Given the description of an element on the screen output the (x, y) to click on. 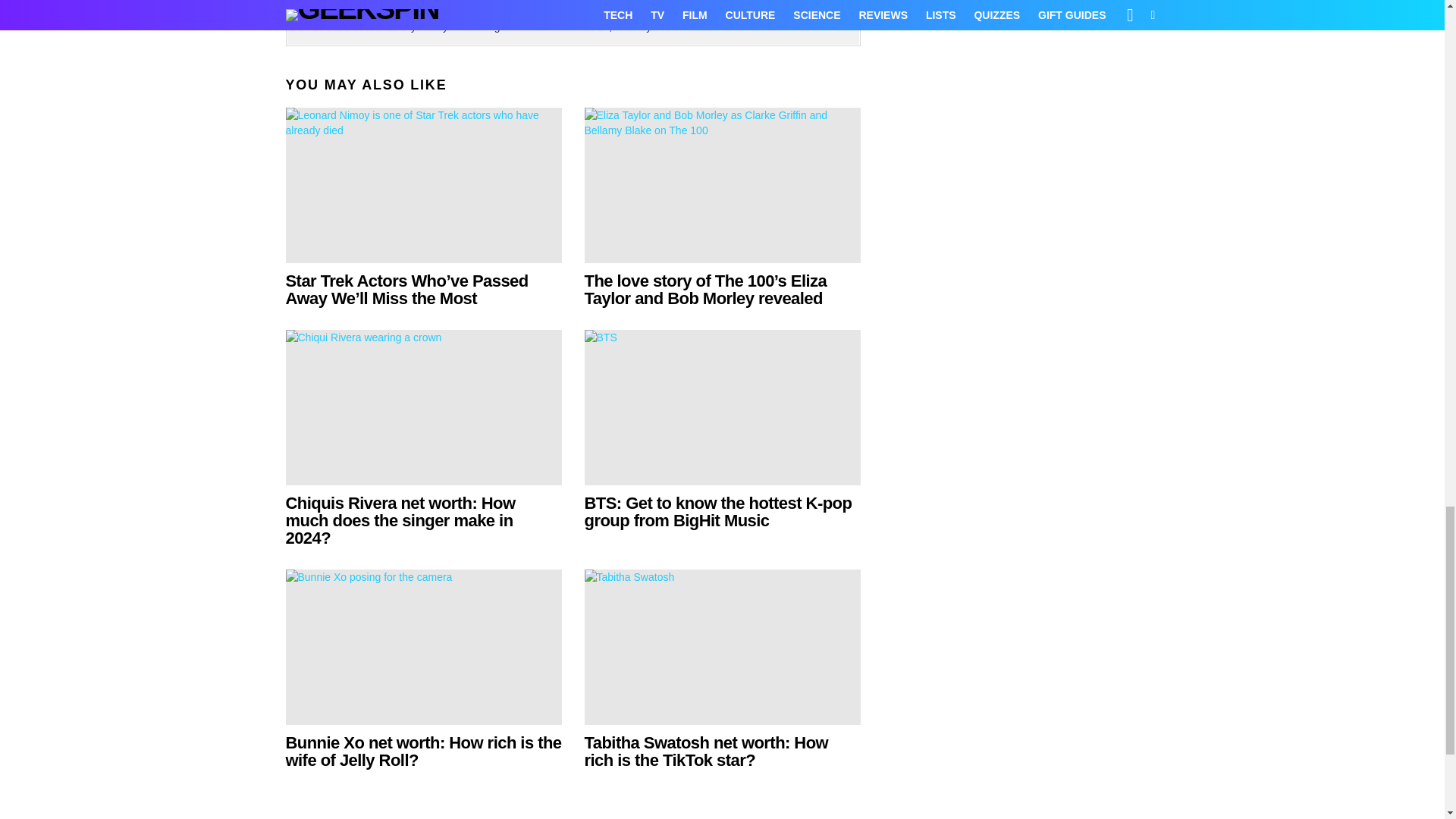
BTS: Get to know the hottest K-pop group from BigHit Music (721, 407)
Bunnie Xo net worth: How rich is the wife of Jelly Roll? (422, 751)
Tabitha Swatosh net worth: How rich is the TikTok star? (705, 751)
Tabitha Swatosh net worth: How rich is the TikTok star? (721, 646)
Bunnie Xo net worth: How rich is the wife of Jelly Roll? (422, 646)
BTS: Get to know the hottest K-pop group from BigHit Music (717, 511)
